Given the description of an element on the screen output the (x, y) to click on. 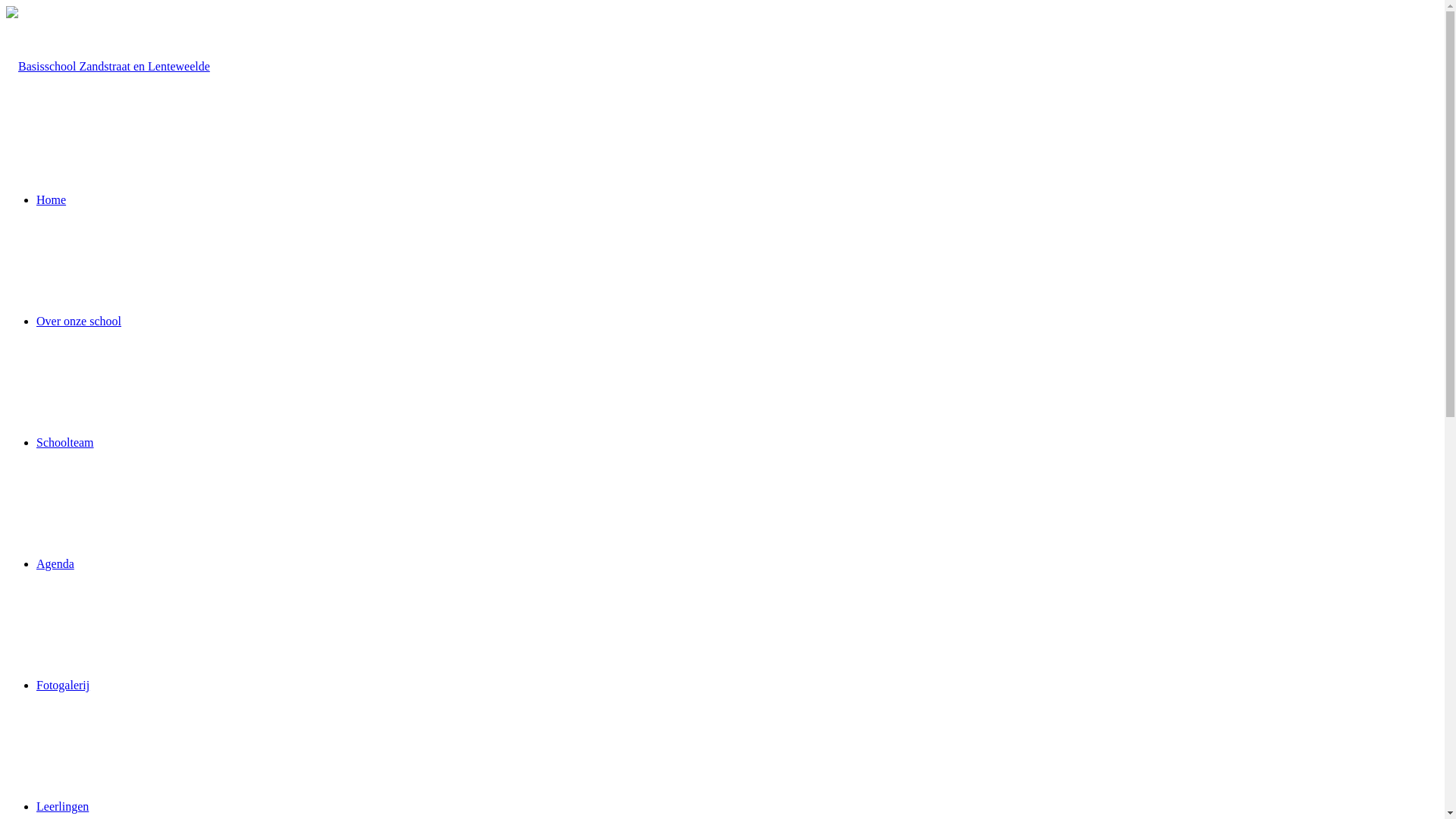
Home Element type: text (50, 199)
Fotogalerij Element type: text (62, 684)
Schoolteam Element type: text (65, 442)
Over onze school Element type: text (78, 320)
Agenda Element type: text (55, 563)
Leerlingen Element type: text (62, 806)
